Given the description of an element on the screen output the (x, y) to click on. 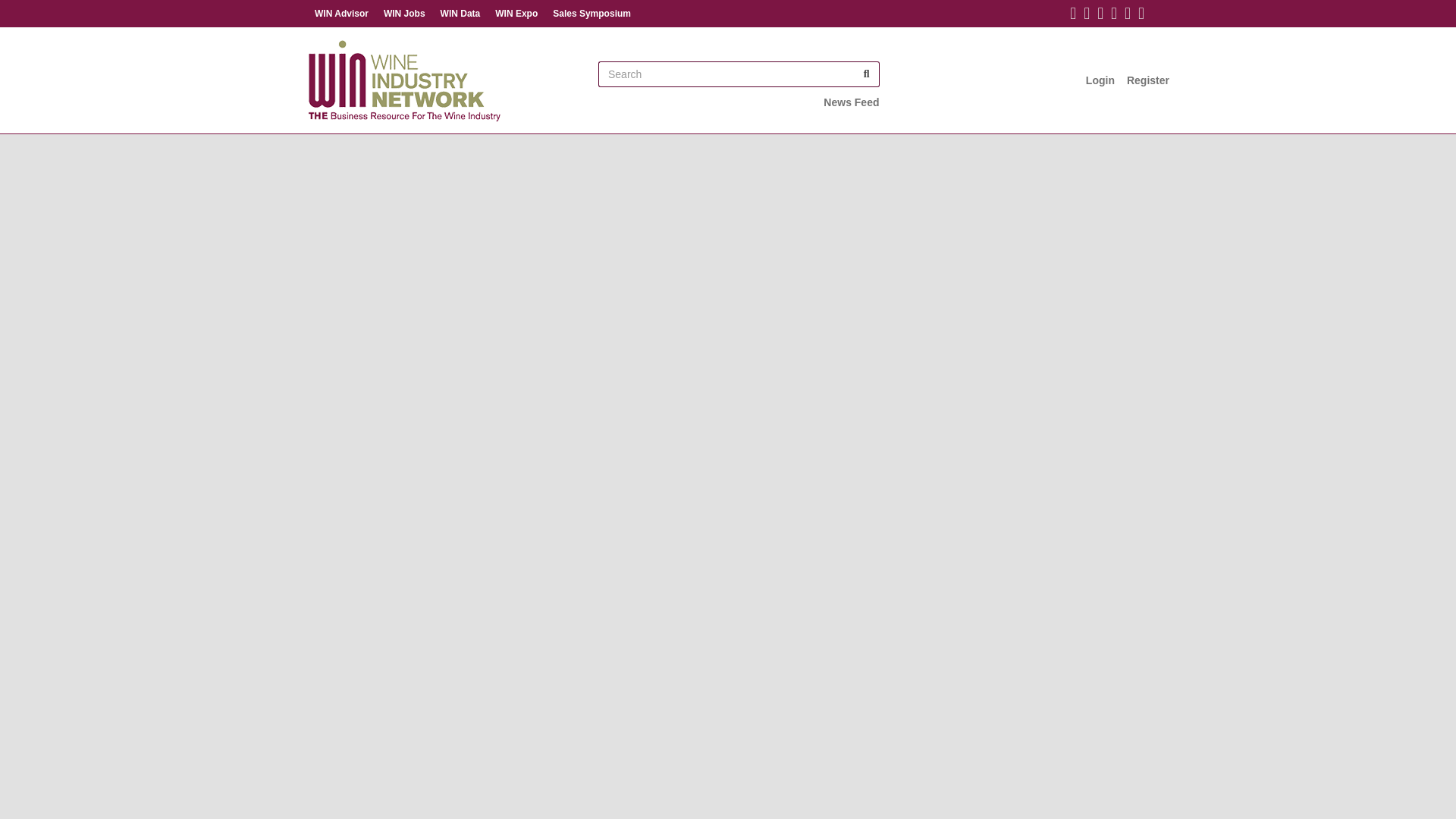
WIN Data (459, 13)
WIN Expo (515, 13)
Register (1148, 80)
News Feed (851, 102)
Sales Symposium (591, 13)
WIN Advisor (341, 13)
WIN Jobs (403, 13)
